Given the description of an element on the screen output the (x, y) to click on. 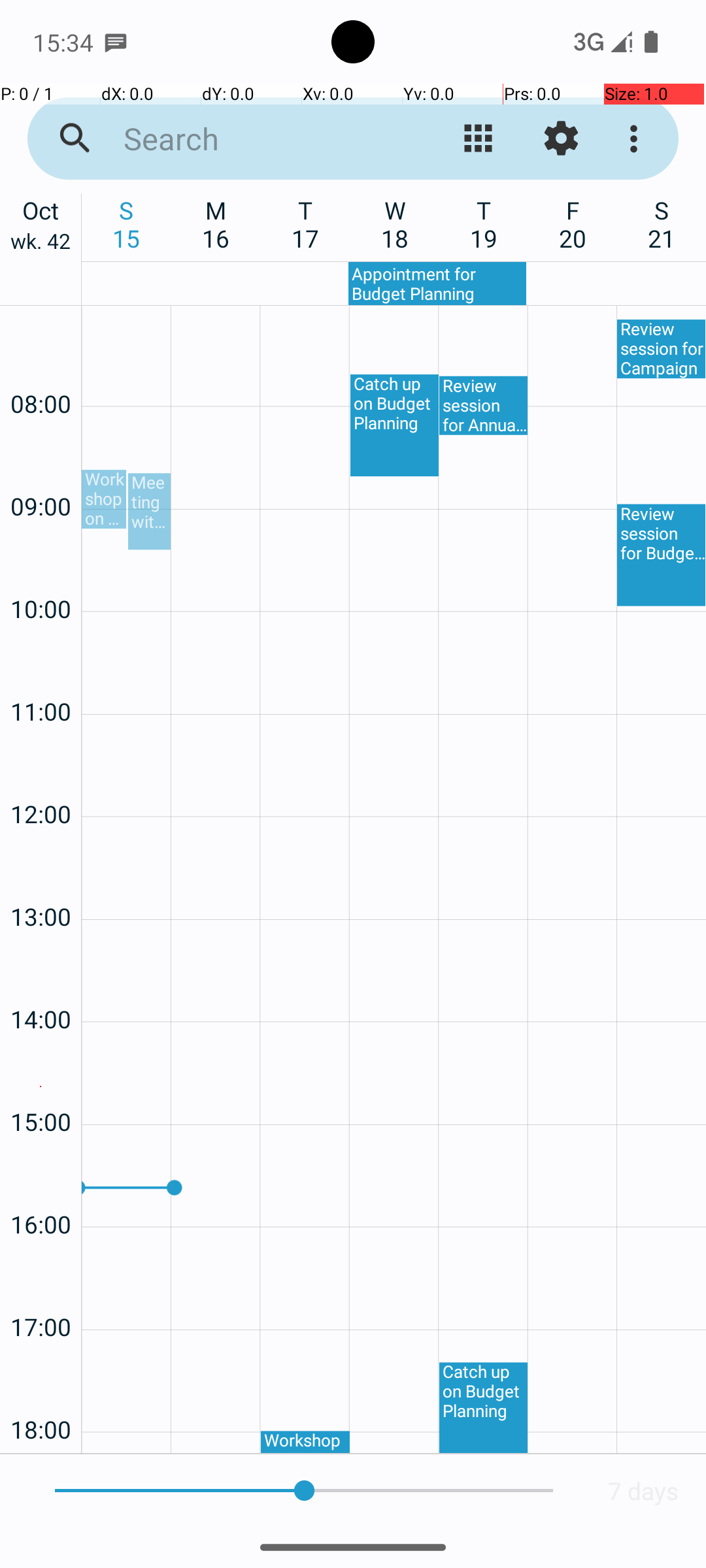
wk. 42 Element type: android.widget.TextView (40, 243)
7 days Element type: android.widget.TextView (642, 1490)
08:00 Element type: android.widget.TextView (40, 368)
10:00 Element type: android.widget.TextView (40, 573)
11:00 Element type: android.widget.TextView (40, 676)
12:00 Element type: android.widget.TextView (40, 778)
13:00 Element type: android.widget.TextView (40, 881)
14:00 Element type: android.widget.TextView (40, 983)
15:00 Element type: android.widget.TextView (40, 1086)
17:00 Element type: android.widget.TextView (40, 1291)
18:00 Element type: android.widget.TextView (40, 1394)
19:00 Element type: android.widget.TextView (40, 1449)
S
15 Element type: android.widget.TextView (126, 223)
M
16 Element type: android.widget.TextView (215, 223)
T
17 Element type: android.widget.TextView (305, 223)
W
18 Element type: android.widget.TextView (394, 223)
T
19 Element type: android.widget.TextView (483, 223)
F
20 Element type: android.widget.TextView (572, 223)
S
21 Element type: android.widget.TextView (661, 223)
Appointment for Budget Planning Element type: android.widget.TextView (437, 283)
Meeting with the Team Element type: android.widget.TextView (149, 511)
Workshop on Budget Planning Element type: android.widget.TextView (103, 498)
Workshop on Campaign Element type: android.widget.TextView (304, 1441)
Catch up on Budget Planning Element type: android.widget.TextView (394, 425)
Review session for Annual Report Element type: android.widget.TextView (483, 405)
Review session for Budget Planning Element type: android.widget.TextView (661, 555)
Review session for Campaign Element type: android.widget.TextView (661, 348)
